Given the description of an element on the screen output the (x, y) to click on. 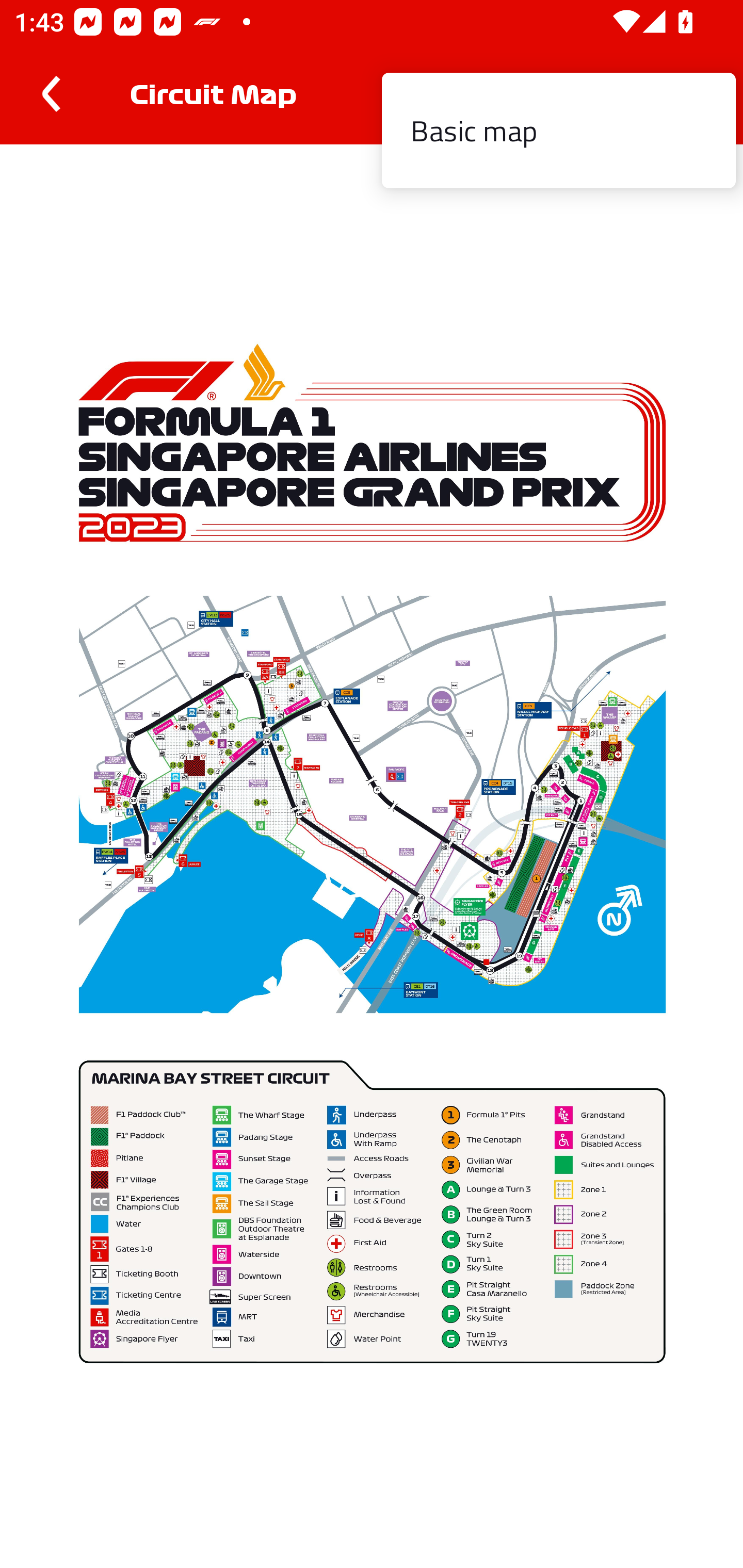
Basic map (558, 130)
